Given the description of an element on the screen output the (x, y) to click on. 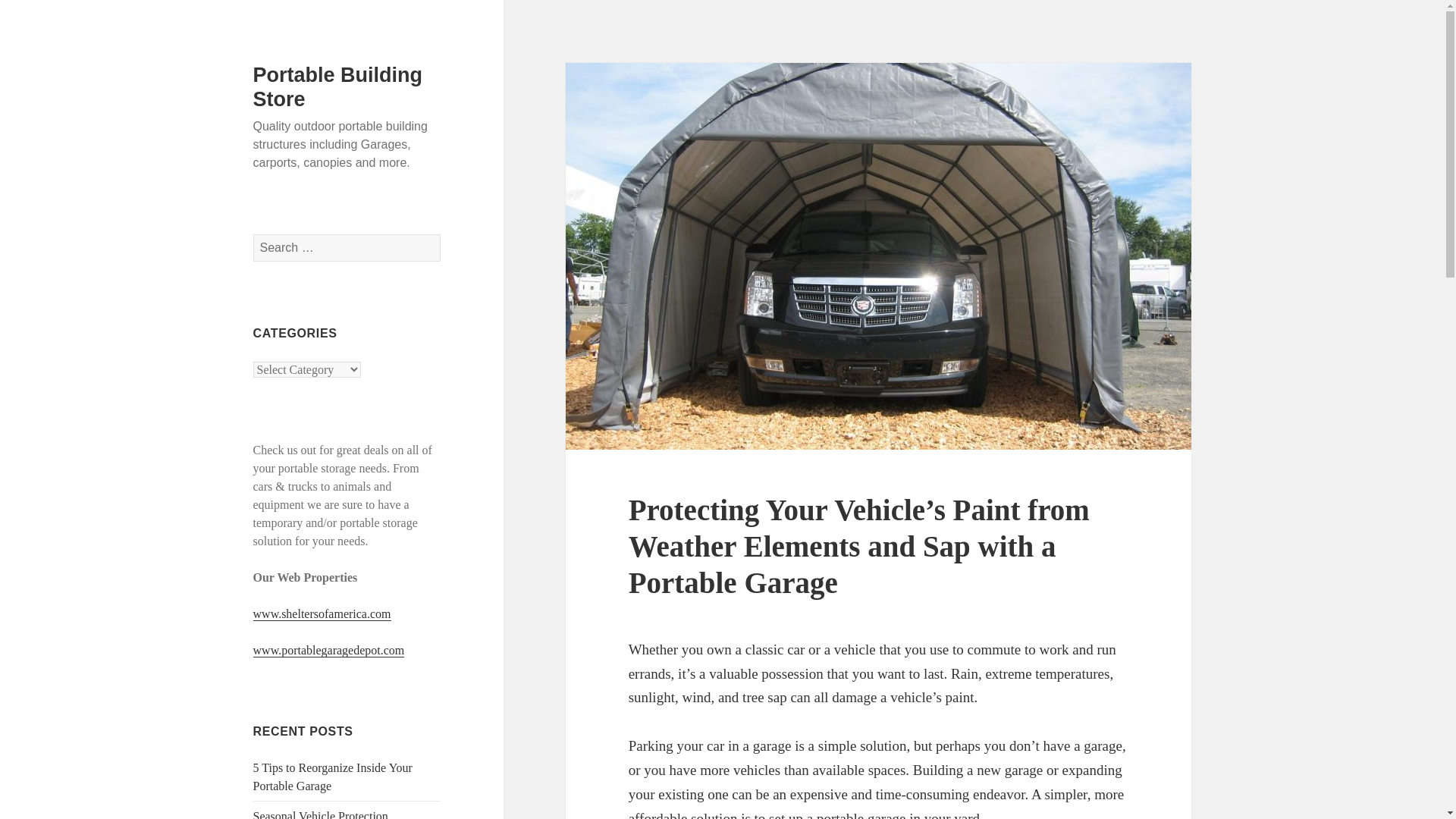
www.portablegaragedepot.com (328, 650)
Seasonal Vehicle Protection (320, 814)
Portable Building Store (338, 86)
5 Tips to Reorganize Inside Your Portable Garage (332, 776)
www.sheltersofamerica.com (322, 613)
